Given the description of an element on the screen output the (x, y) to click on. 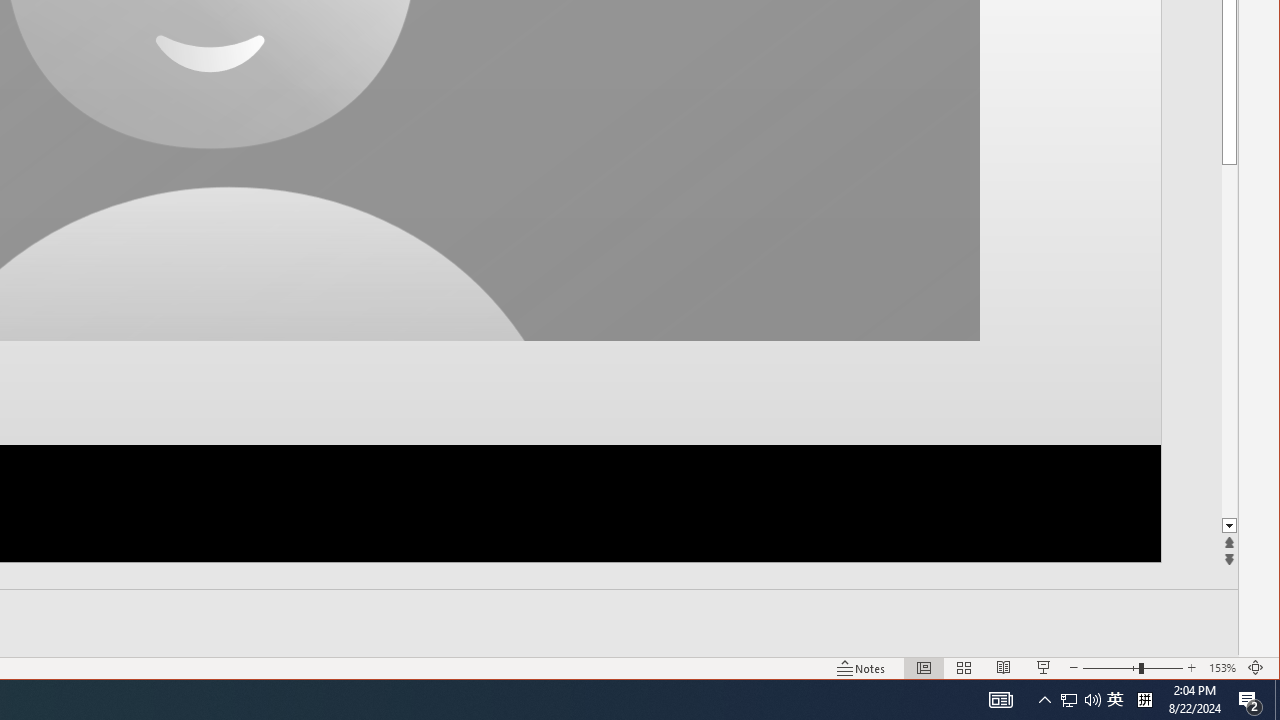
Action Center, 2 new notifications (1250, 699)
Zoom 153% (1222, 668)
